Given the description of an element on the screen output the (x, y) to click on. 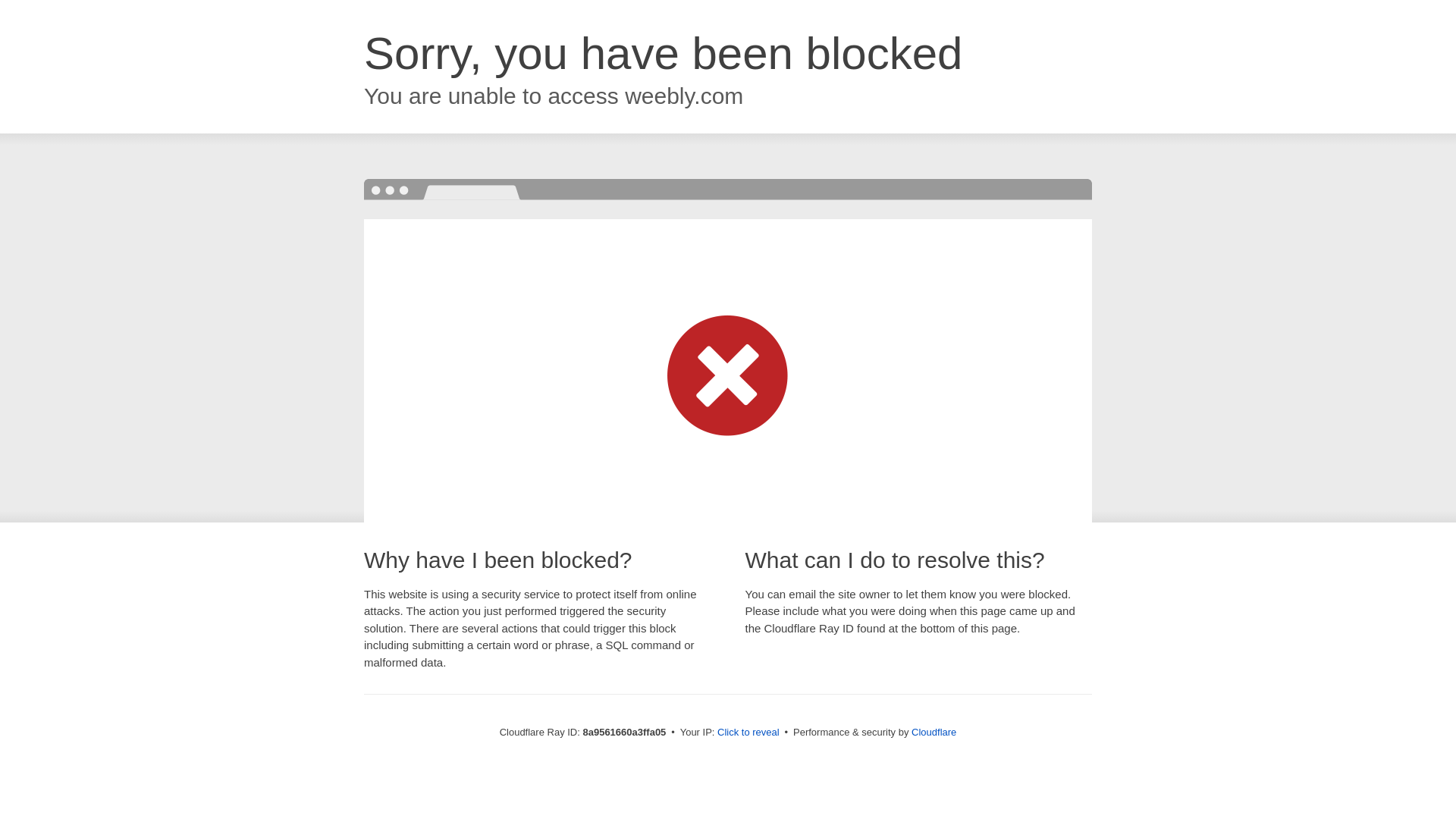
Click to reveal (747, 732)
Cloudflare (933, 731)
